Given the description of an element on the screen output the (x, y) to click on. 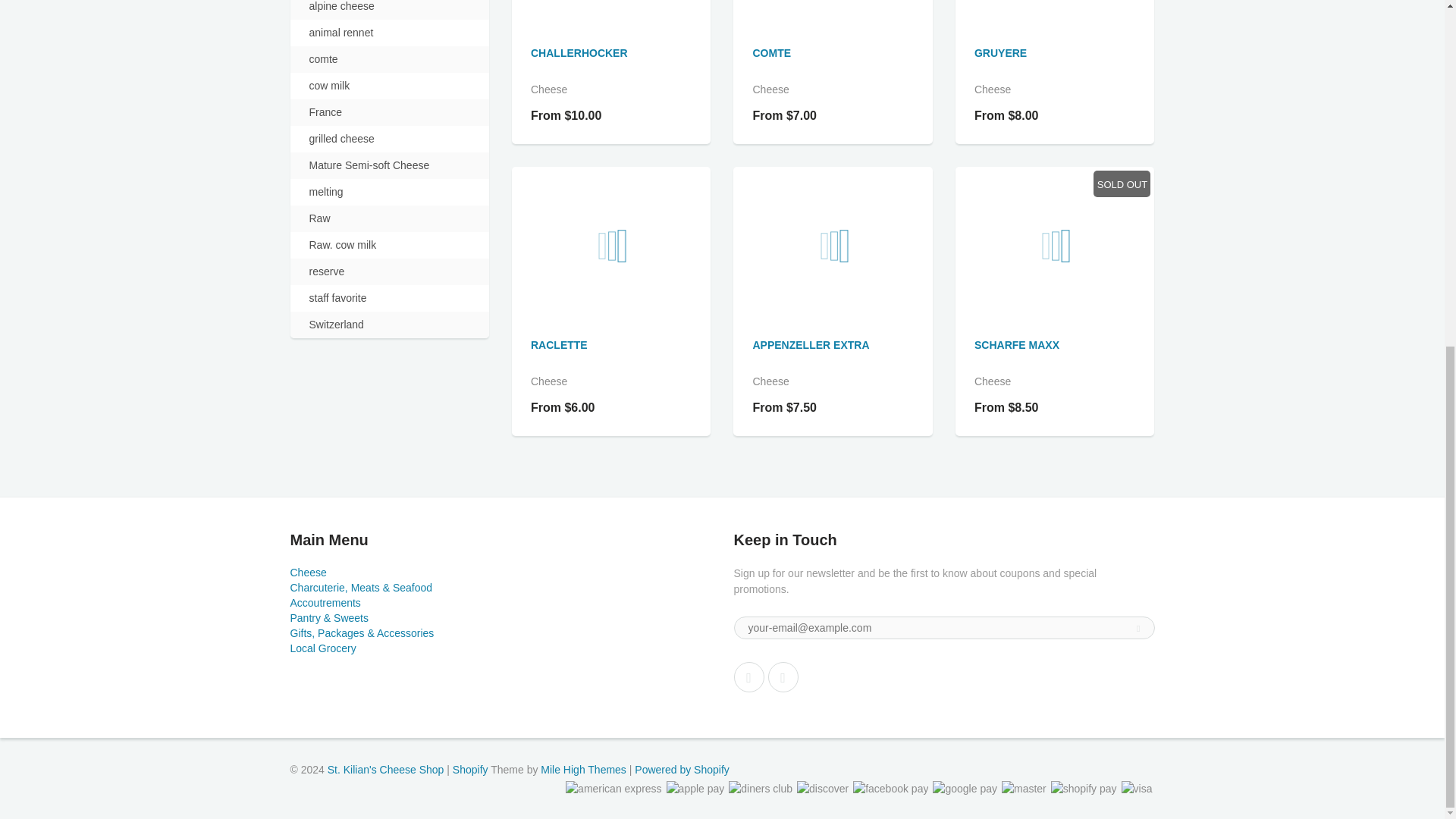
Remove tag alpine cheese (341, 7)
Show products matching tag grilled cheese (341, 139)
Show products matching tag comte (322, 59)
Show products matching tag cow milk (329, 85)
Show products matching tag Mature Semi-soft Cheese (368, 165)
Show products matching tag France (325, 112)
Show products matching tag animal rennet (341, 32)
